Given the description of an element on the screen output the (x, y) to click on. 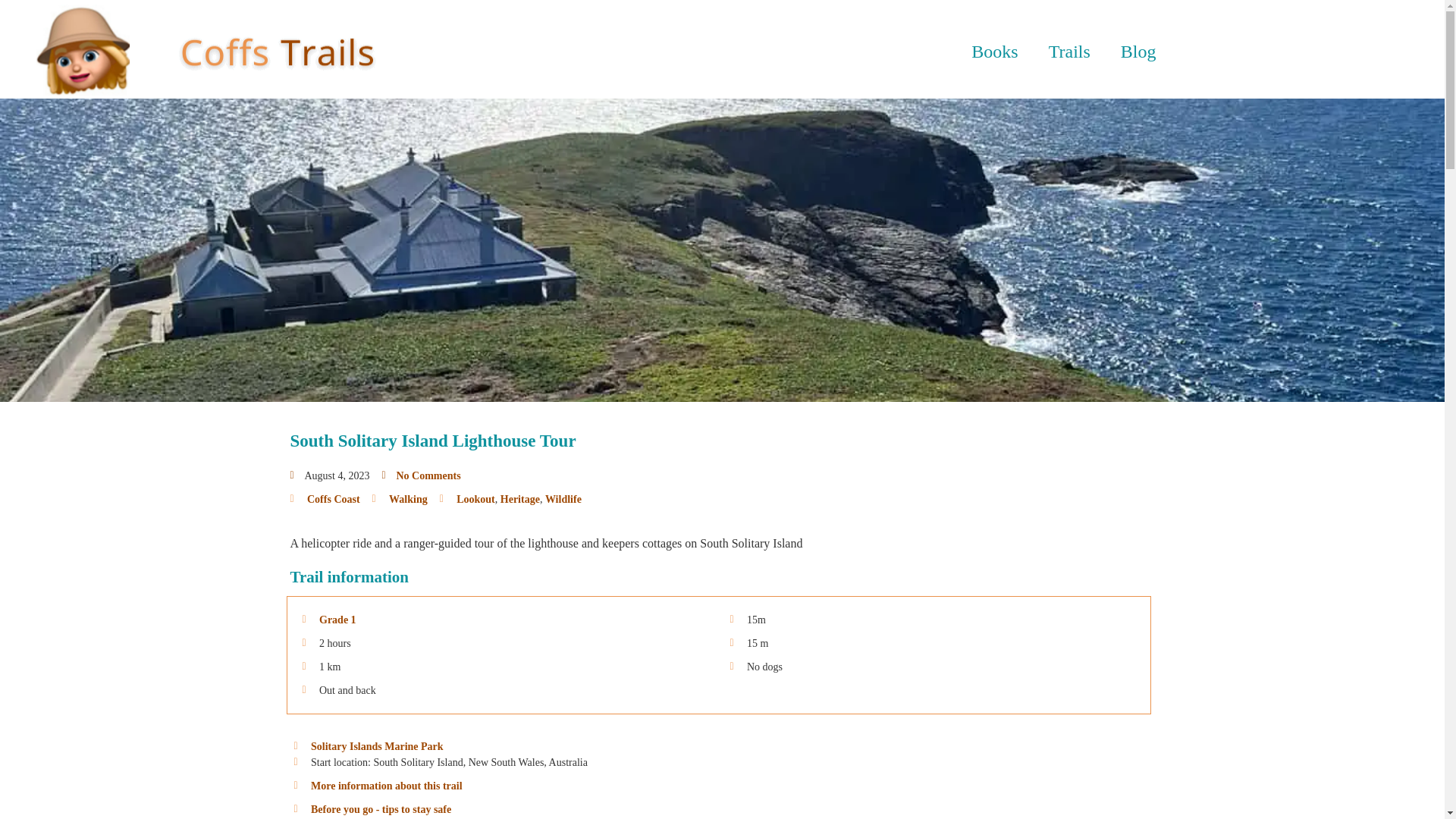
Before you go - tips to stay safe (463, 809)
Walking (408, 499)
No Comments (420, 475)
Solitary Islands Marine Park (377, 746)
Trails (1069, 51)
Coffs Coast (333, 499)
Books (994, 51)
Lookout (476, 499)
Blog (1138, 51)
More information about this trail (463, 785)
